Given the description of an element on the screen output the (x, y) to click on. 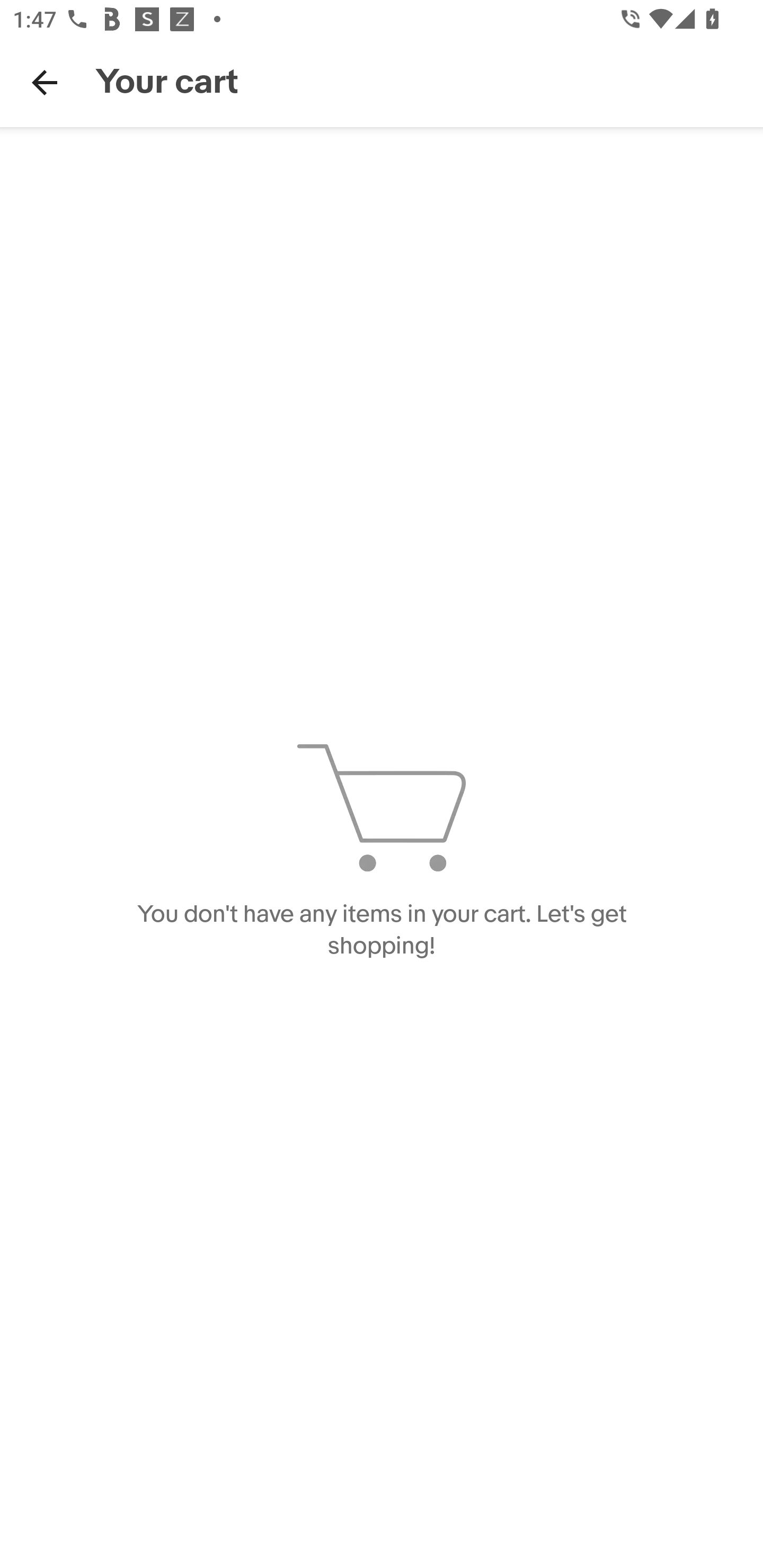
Navigate up (44, 82)
